Given the description of an element on the screen output the (x, y) to click on. 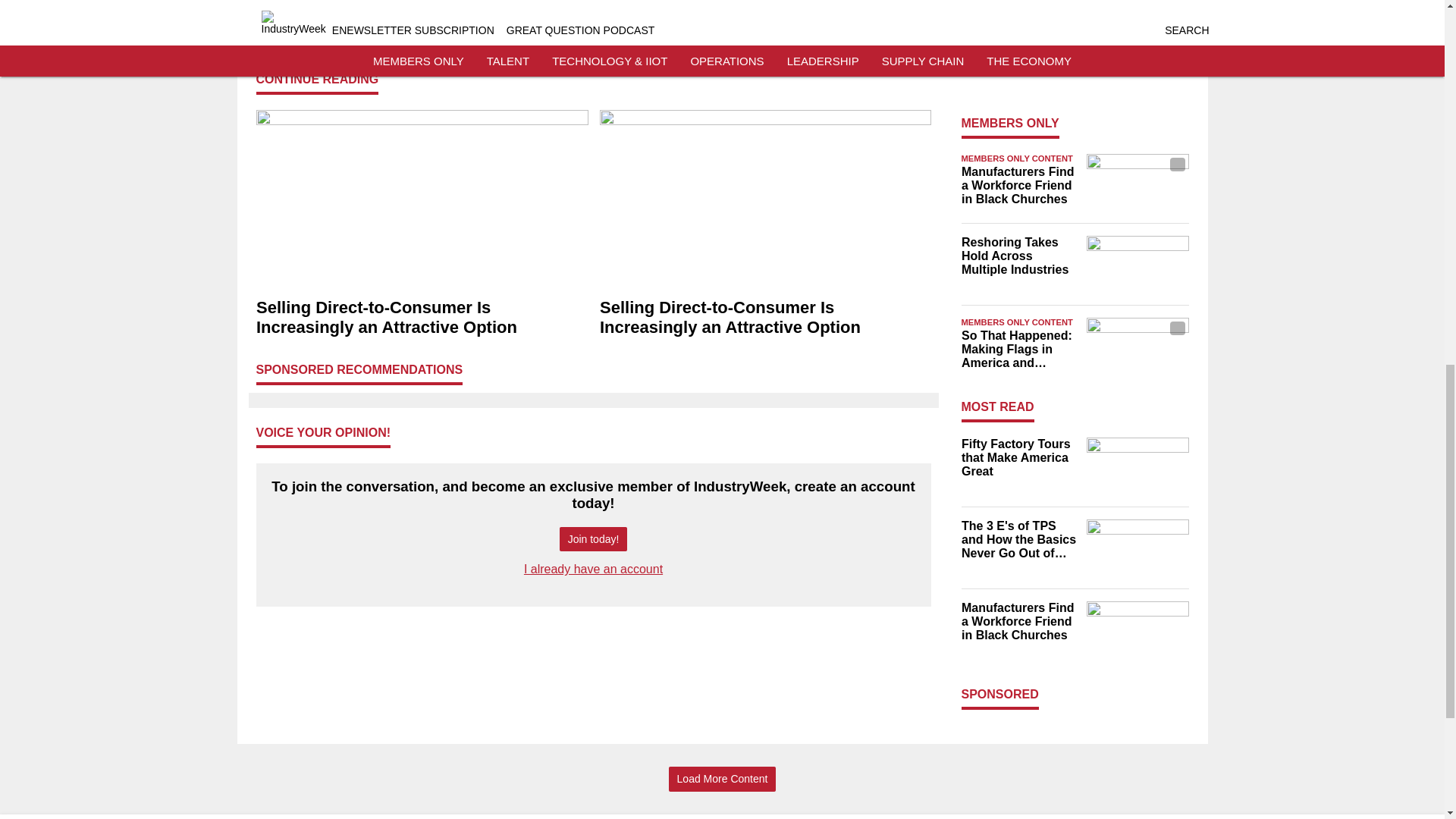
I already have an account (593, 568)
Join today! (593, 539)
Manufacturers Find a Workforce Friend in Black Churches (1019, 185)
Contact IndustryWeek (598, 34)
MEMBERS ONLY (1009, 123)
Reshoring Takes Hold Across Multiple Industries (1019, 255)
The 3 E's of TPS and How the Basics Never Go Out of Style (1019, 54)
